Given the description of an element on the screen output the (x, y) to click on. 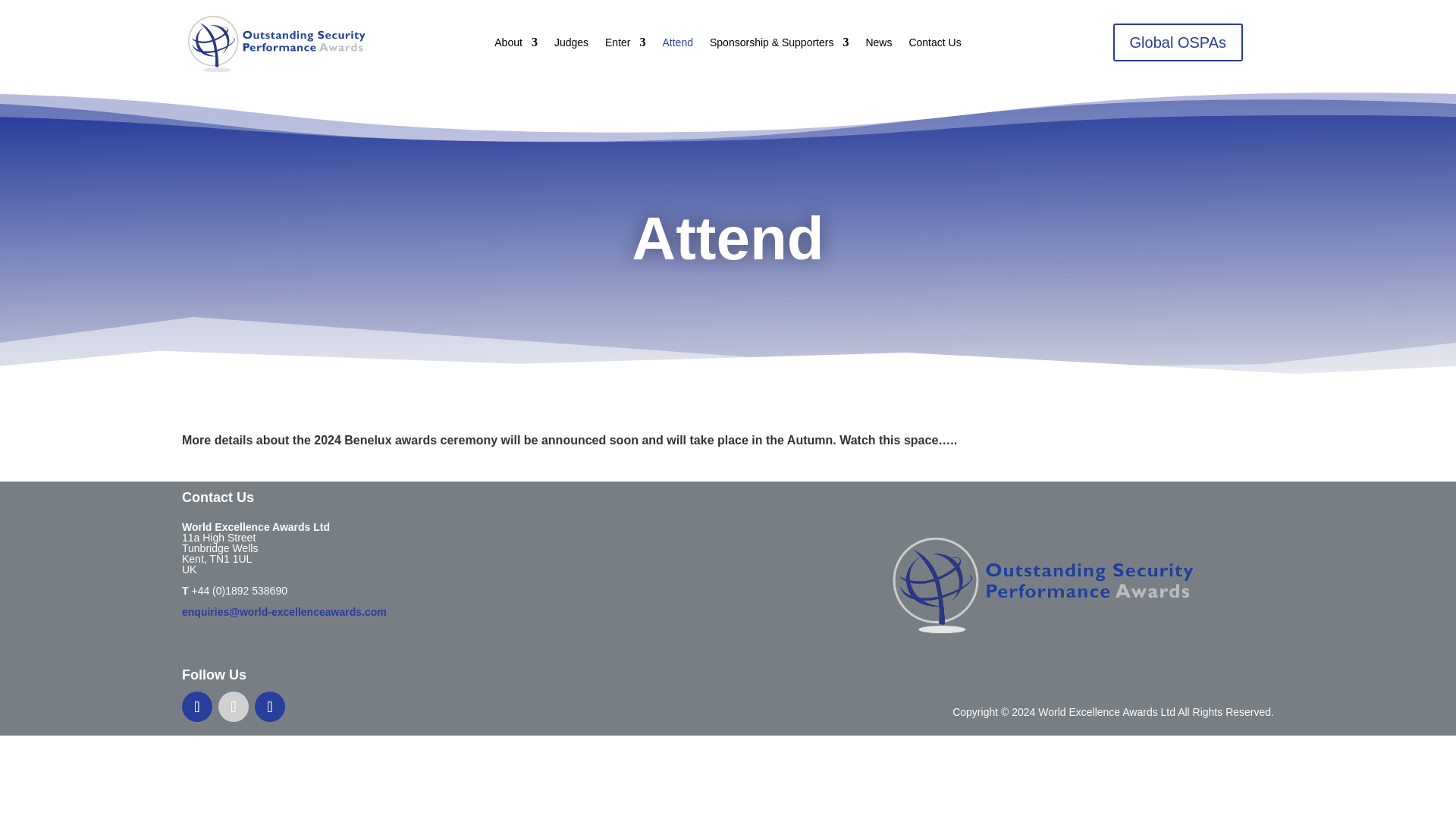
Follow on X (233, 706)
News (877, 45)
OSPAs Logo Transparent (1045, 584)
Follow on Facebook (269, 706)
About (516, 45)
Judges (571, 45)
Attend (677, 45)
Global OSPAs (1178, 42)
Enter (625, 45)
Follow on LinkedIn (197, 706)
Contact Us (934, 45)
OSPAs Logo Transparent (278, 44)
